Given the description of an element on the screen output the (x, y) to click on. 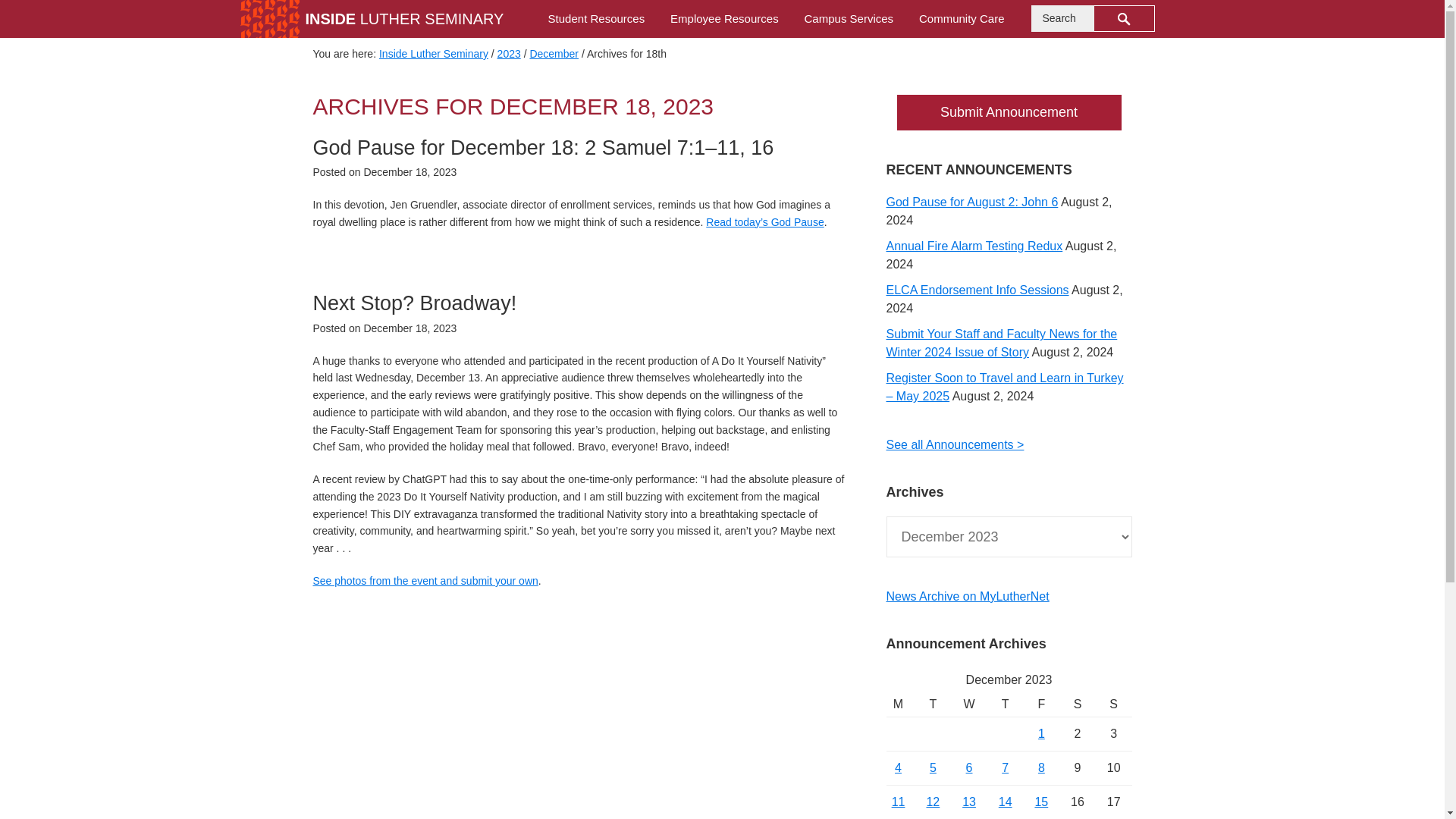
13 (968, 801)
Sunday (1114, 704)
Submit Announcement (1008, 112)
See photos from the event and submit your own (425, 580)
News Archive on MyLutherNet (966, 595)
Student Resources (596, 17)
December (553, 53)
Monday (899, 704)
15 (1040, 801)
Community Care (961, 17)
2023 (509, 53)
God Pause for August 2: John 6 (971, 201)
INSIDE LUTHER SEMINARY (403, 18)
Employee Resources (724, 17)
11 (898, 801)
